Given the description of an element on the screen output the (x, y) to click on. 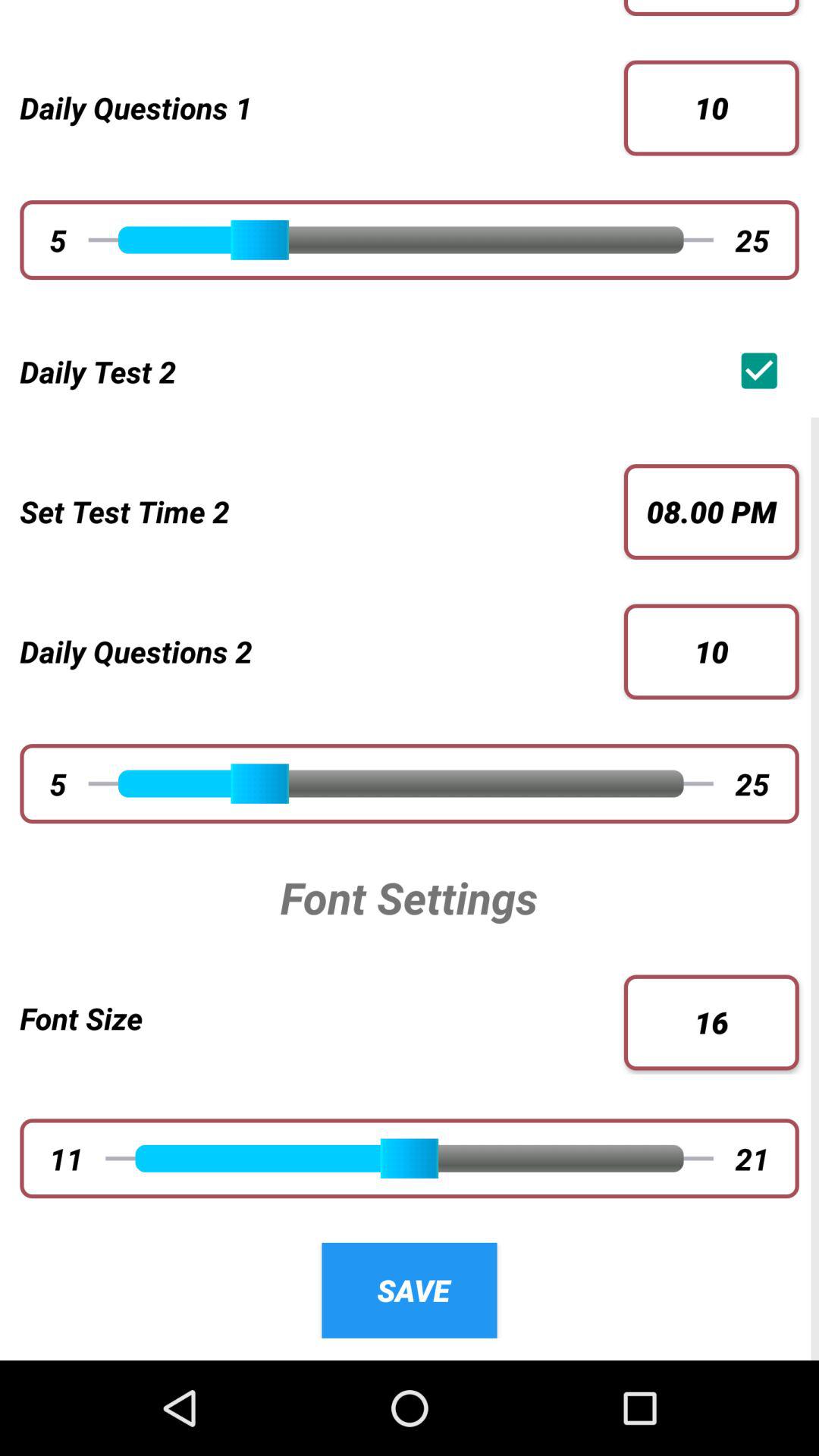
scroll until set test time app (311, 511)
